Given the description of an element on the screen output the (x, y) to click on. 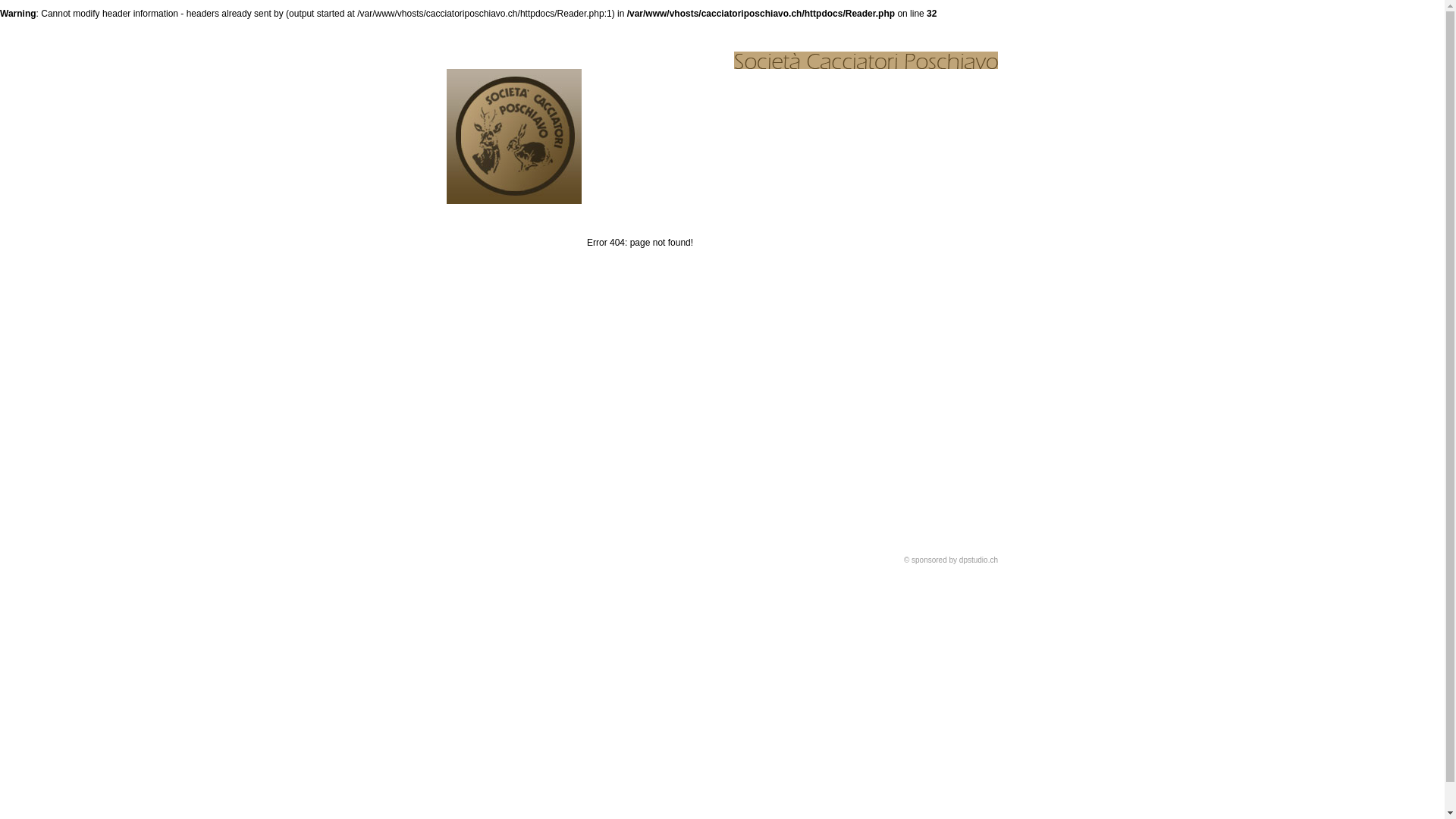
Gallery Element type: text (764, 215)
Link Element type: text (856, 215)
Home Element type: text (492, 215)
Archivio Element type: text (583, 215)
